Given the description of an element on the screen output the (x, y) to click on. 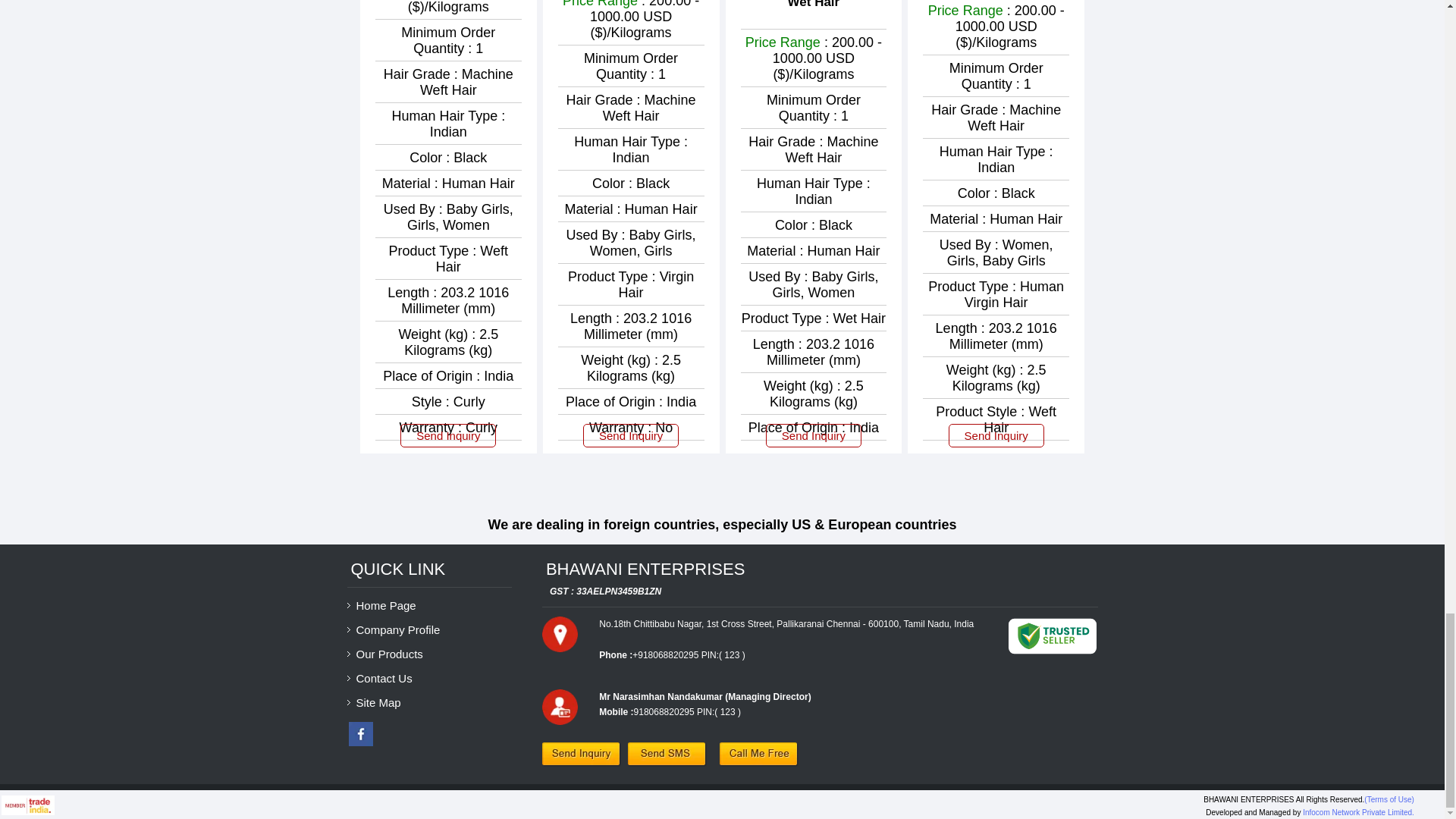
Facebook (360, 741)
Send SMS (666, 754)
Send Inquiry (581, 754)
Call Me Free (758, 754)
